Given the description of an element on the screen output the (x, y) to click on. 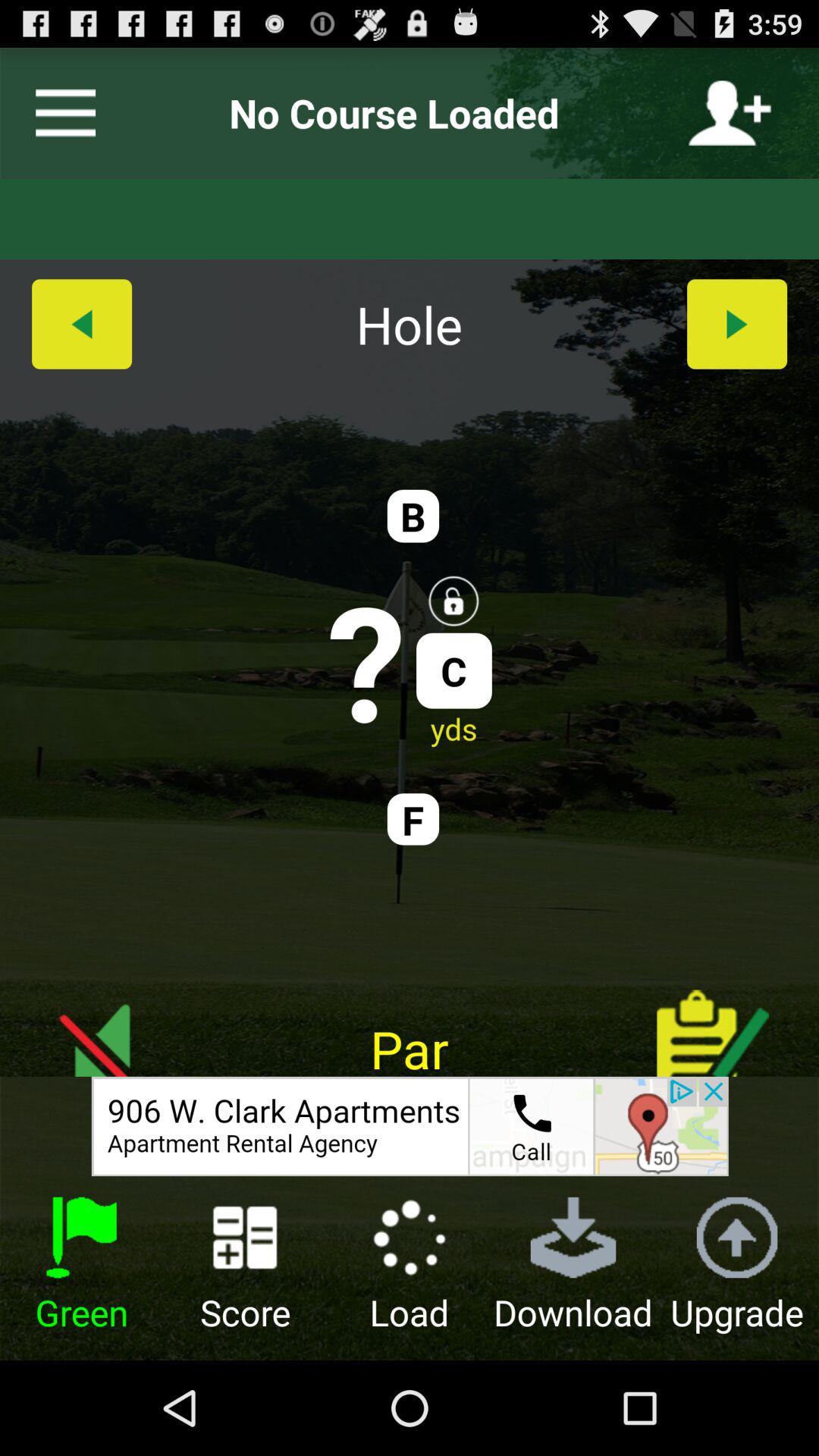
switch mute option (105, 1021)
